Given the description of an element on the screen output the (x, y) to click on. 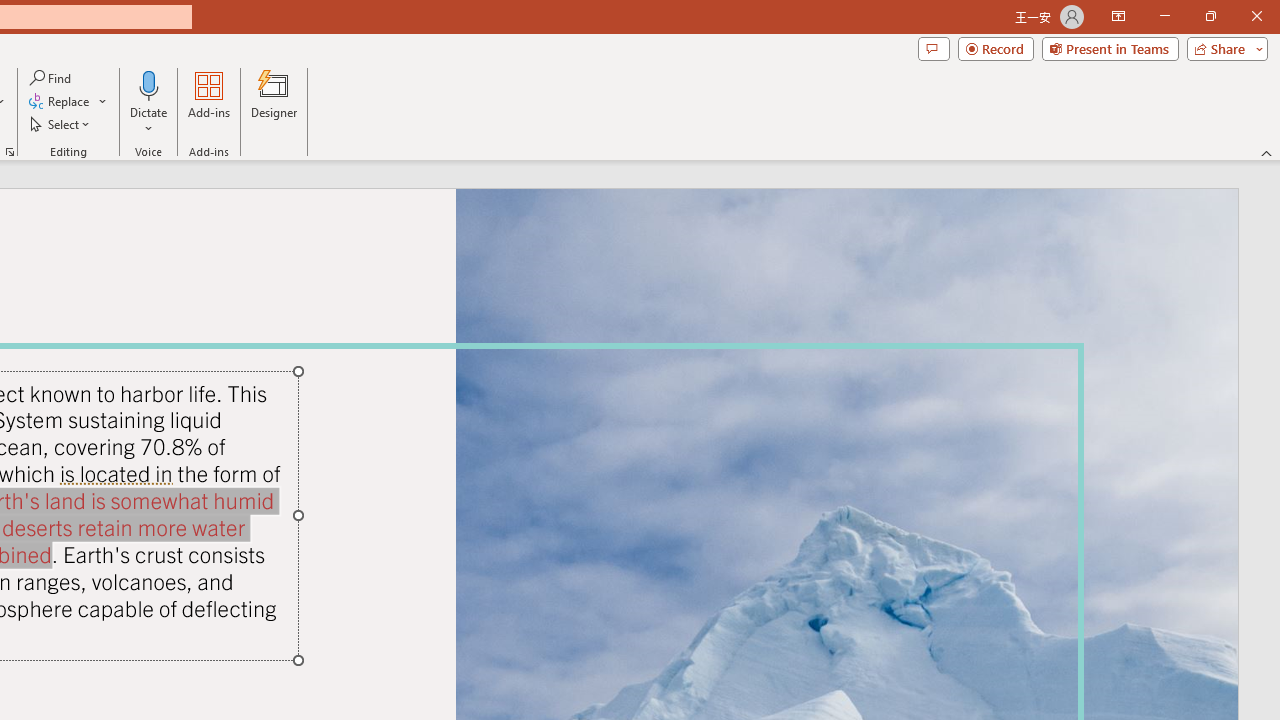
Select (61, 124)
Find... (51, 78)
